Given the description of an element on the screen output the (x, y) to click on. 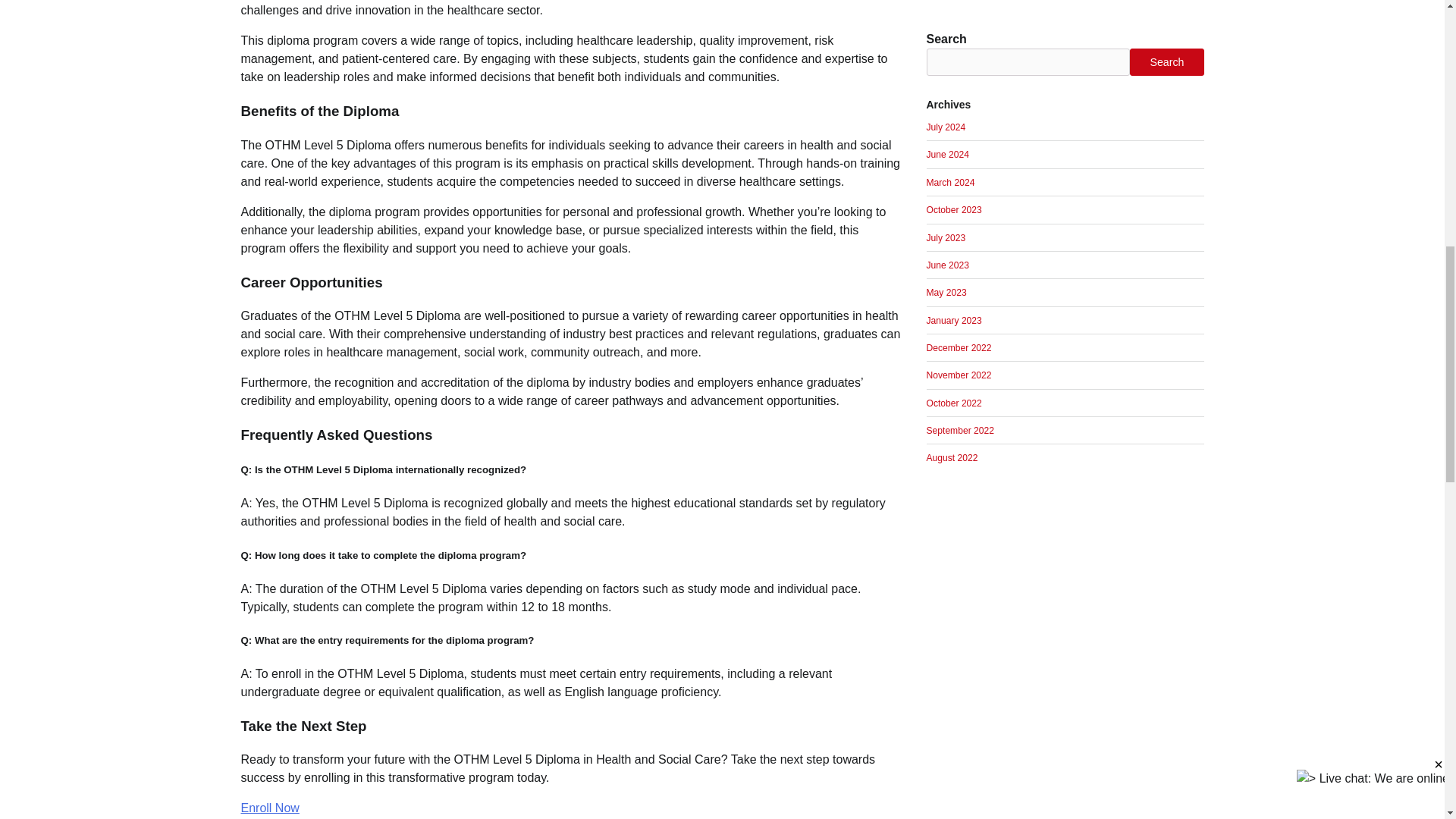
Enroll Now (270, 807)
